Given the description of an element on the screen output the (x, y) to click on. 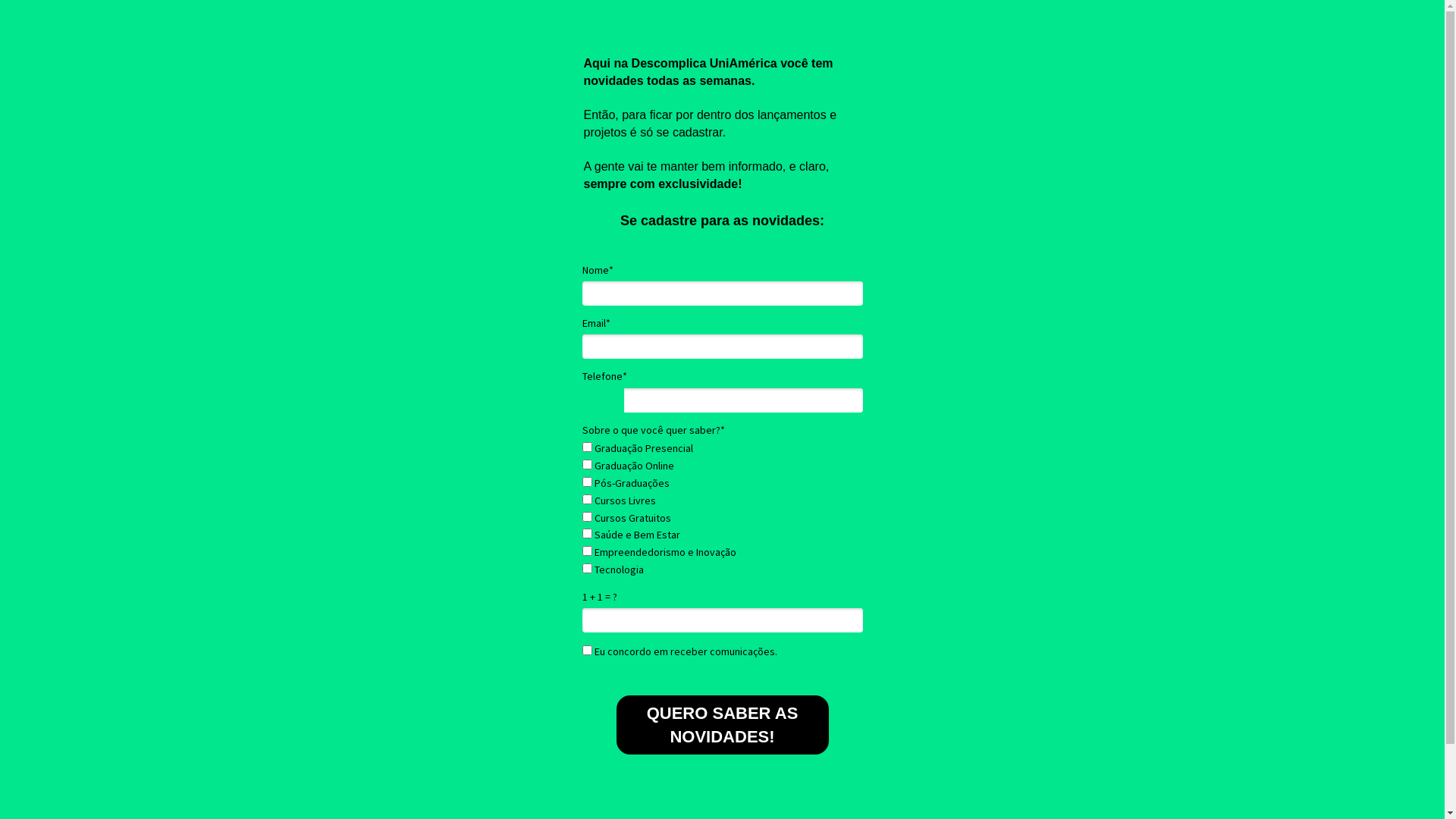
QUERO SABER AS NOVIDADES! Element type: text (721, 724)
